Given the description of an element on the screen output the (x, y) to click on. 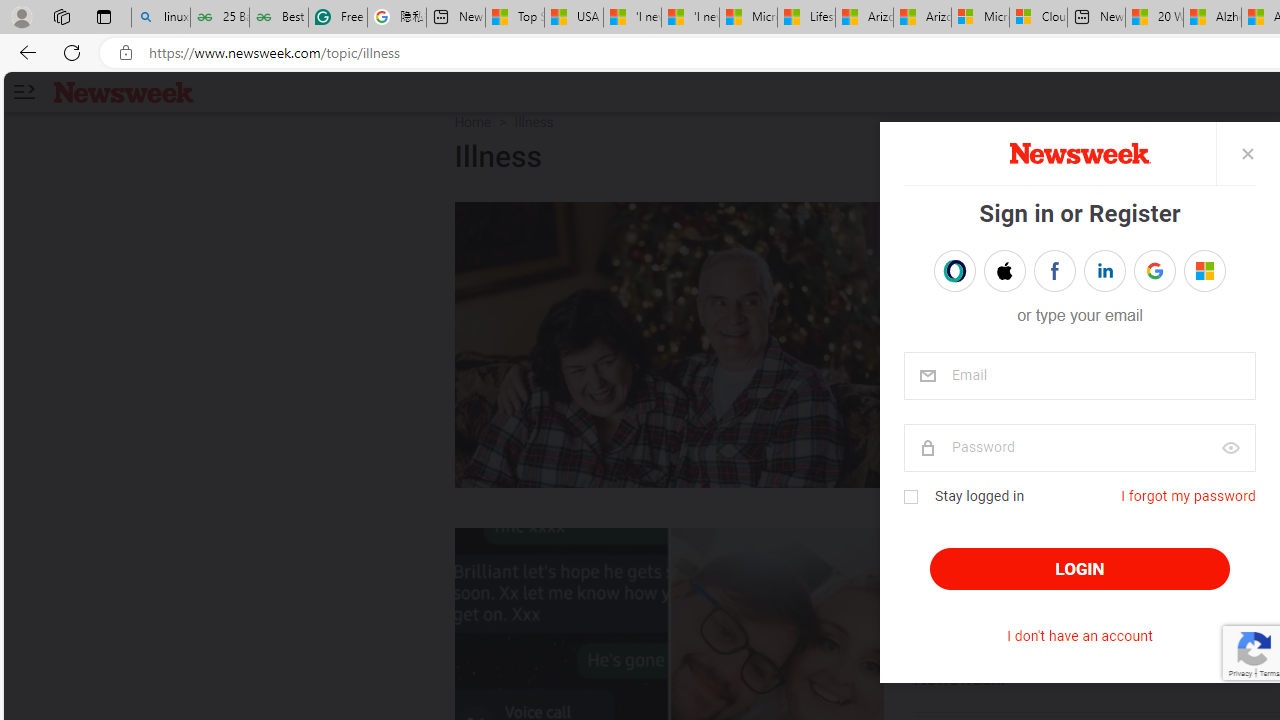
Class: checkbox (909, 497)
Lifestyle - MSN (806, 17)
Eugene (1191, 271)
20 Ways to Boost Your Protein Intake at Every Meal (1154, 17)
To get missing image descriptions, open the context menu. (1078, 153)
AutomationID: side-arrow (23, 92)
Home (472, 121)
LOGIN (1079, 569)
25 Basic Linux Commands For Beginners - GeeksforGeeks (219, 17)
Privacy (1240, 672)
